Given the description of an element on the screen output the (x, y) to click on. 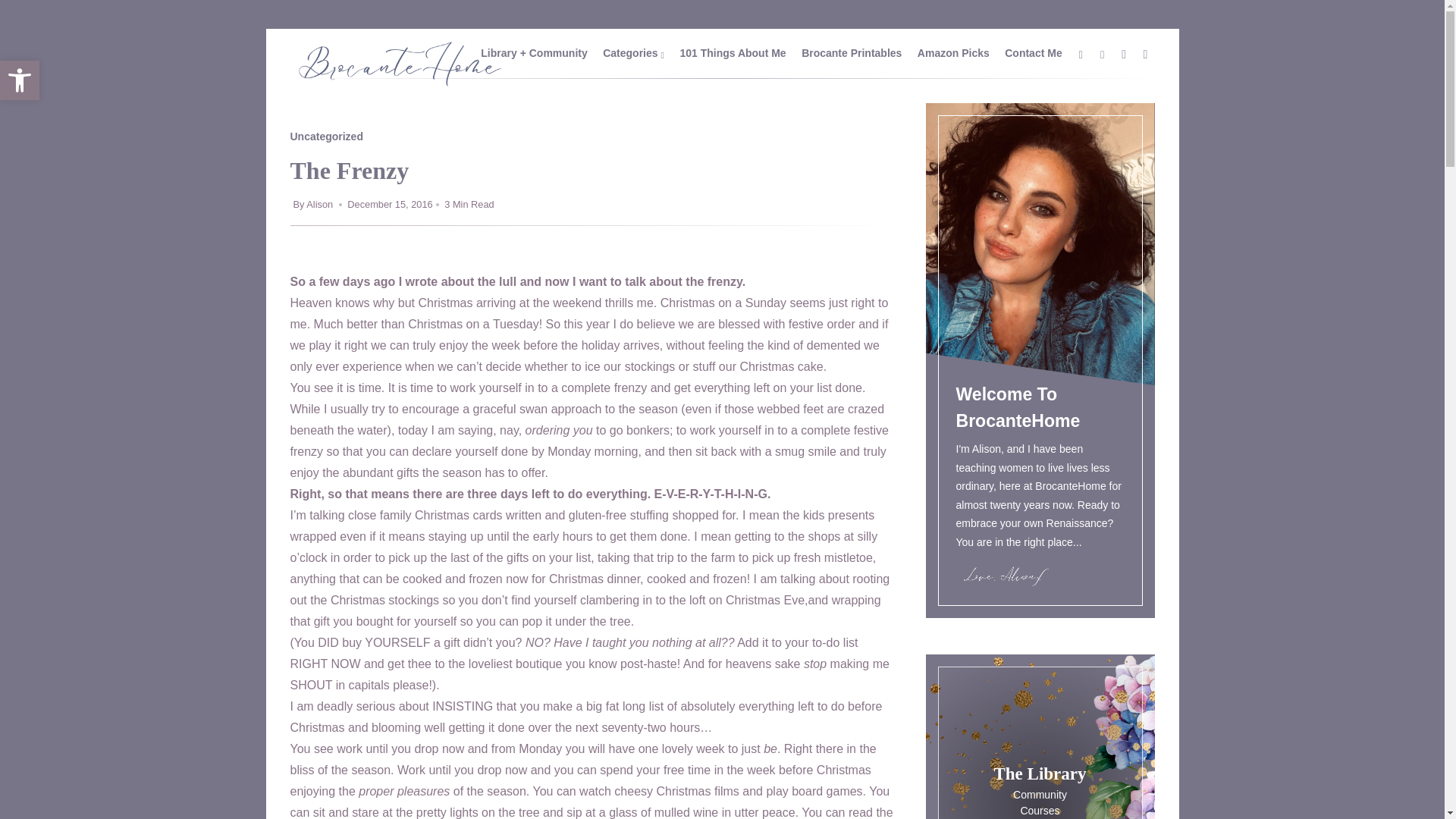
Categories (627, 52)
Amazon Picks (953, 52)
101 Things About Me (19, 79)
Contact Me (732, 52)
Brocantehome (1032, 52)
Brocante Printables (398, 84)
Accessibility Tools (850, 52)
Accessibility Tools (19, 79)
Alison (19, 79)
